Given the description of an element on the screen output the (x, y) to click on. 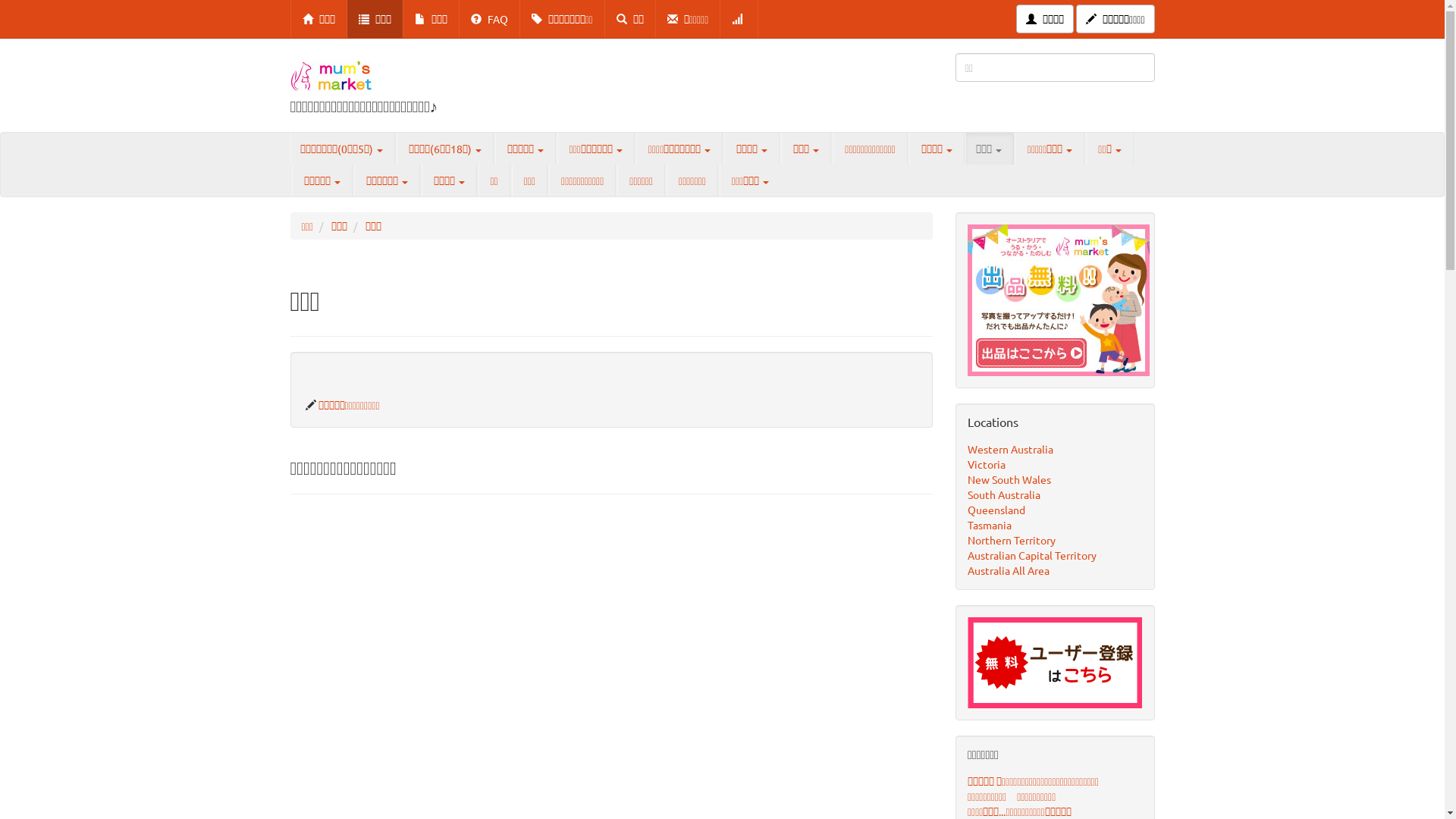
Mum's Market Element type: hover (384, 75)
Australia All Area Element type: text (1008, 570)
South Australia Element type: text (1003, 494)
New South Wales Element type: text (1009, 479)
FAQ Element type: text (489, 18)
Queensland Element type: text (996, 509)
Northern Territory Element type: text (1011, 539)
Victoria Element type: text (986, 463)
rss Element type: hover (739, 18)
Western Australia Element type: text (1015, 448)
Tasmania Element type: text (989, 524)
Australian Capital Territory Element type: text (1031, 554)
